Given the description of an element on the screen output the (x, y) to click on. 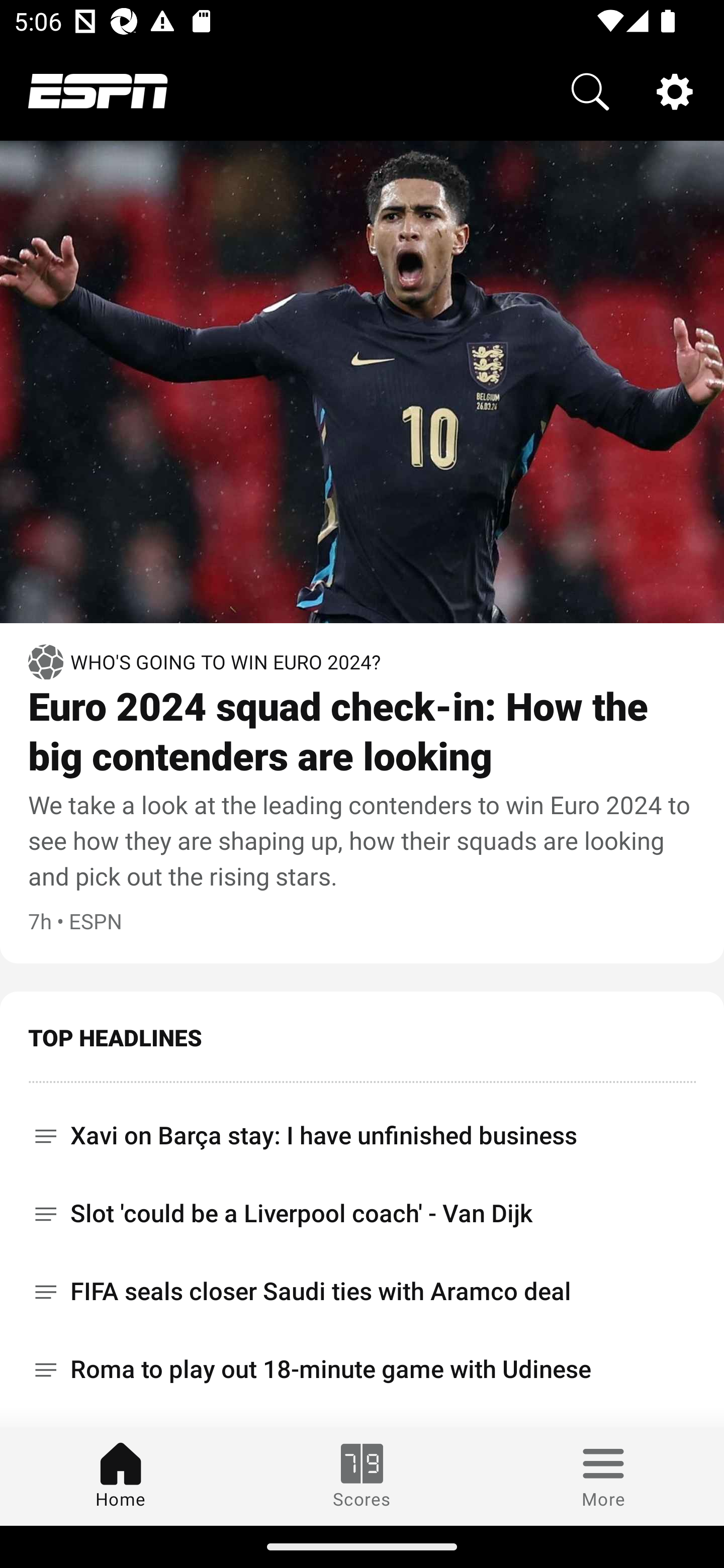
Search (590, 90)
Settings (674, 90)
 Xavi on Barça stay: I have unfinished business (362, 1128)
 Slot 'could be a Liverpool coach' - Van Dijk (362, 1213)
 FIFA seals closer Saudi ties with Aramco deal (362, 1291)
 Roma to play out 18-minute game with Udinese (362, 1369)
Scores (361, 1475)
More (603, 1475)
